Given the description of an element on the screen output the (x, y) to click on. 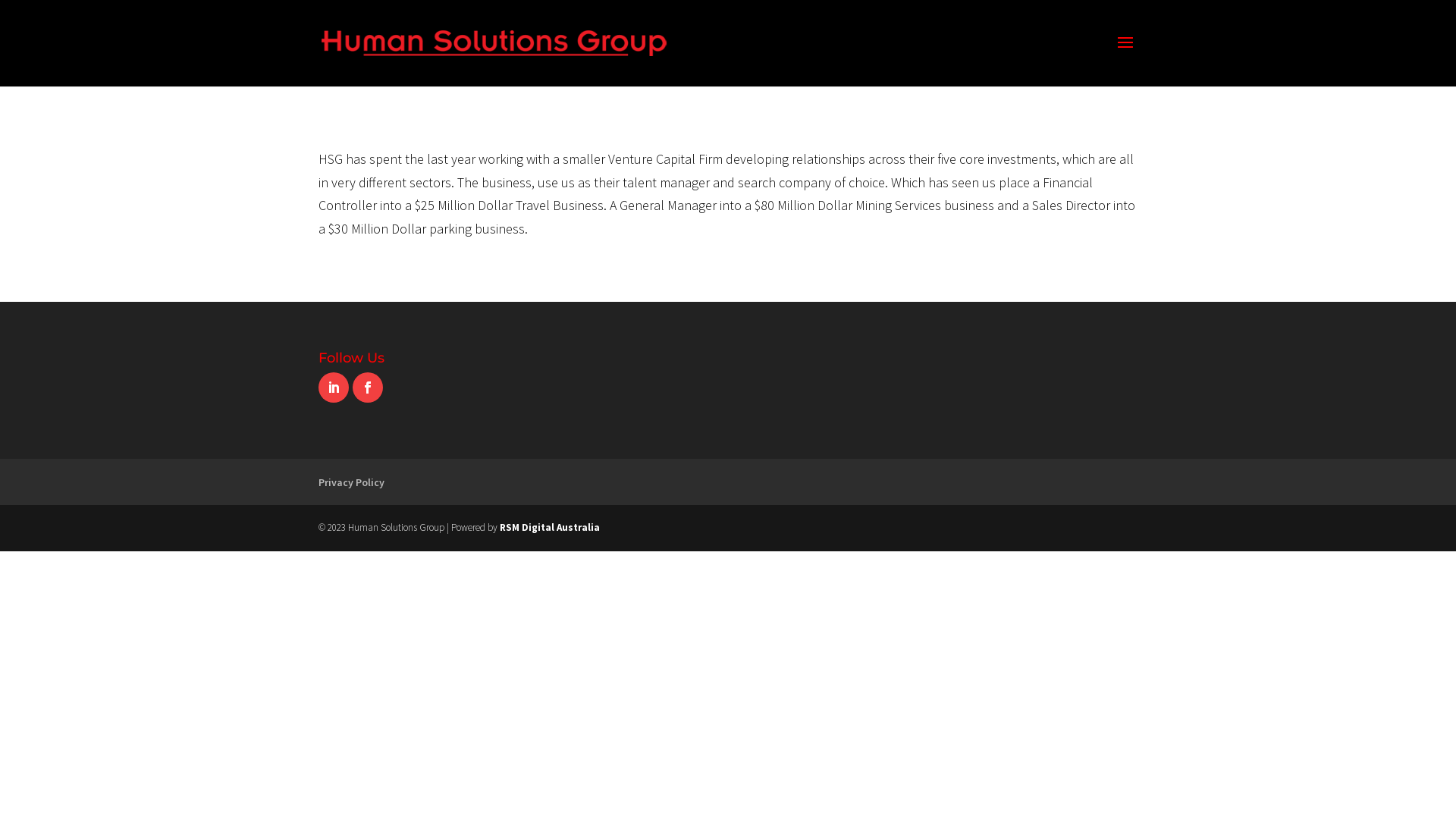
Privacy Policy Element type: text (351, 482)
RSM Digital Australia Element type: text (549, 526)
